Given the description of an element on the screen output the (x, y) to click on. 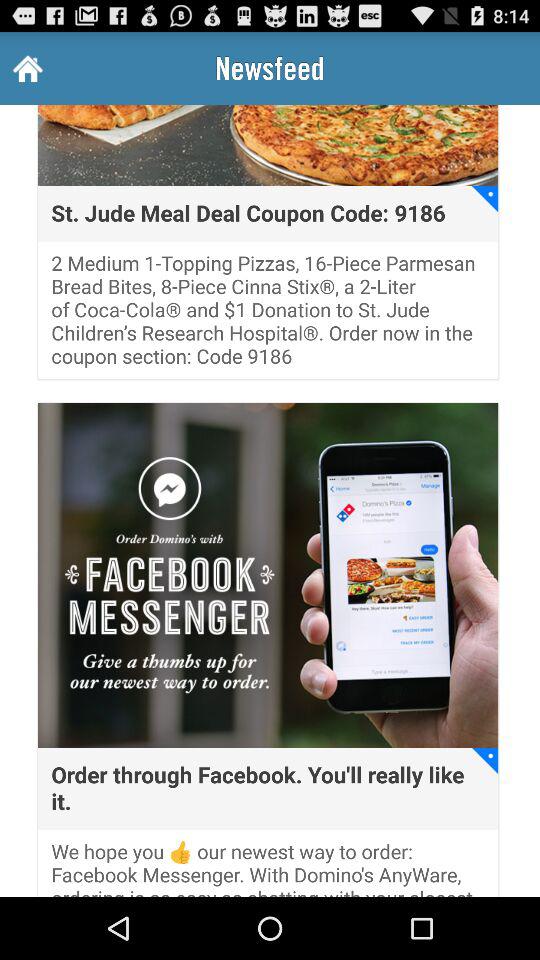
select icon next to st jude meal (485, 198)
